Given the description of an element on the screen output the (x, y) to click on. 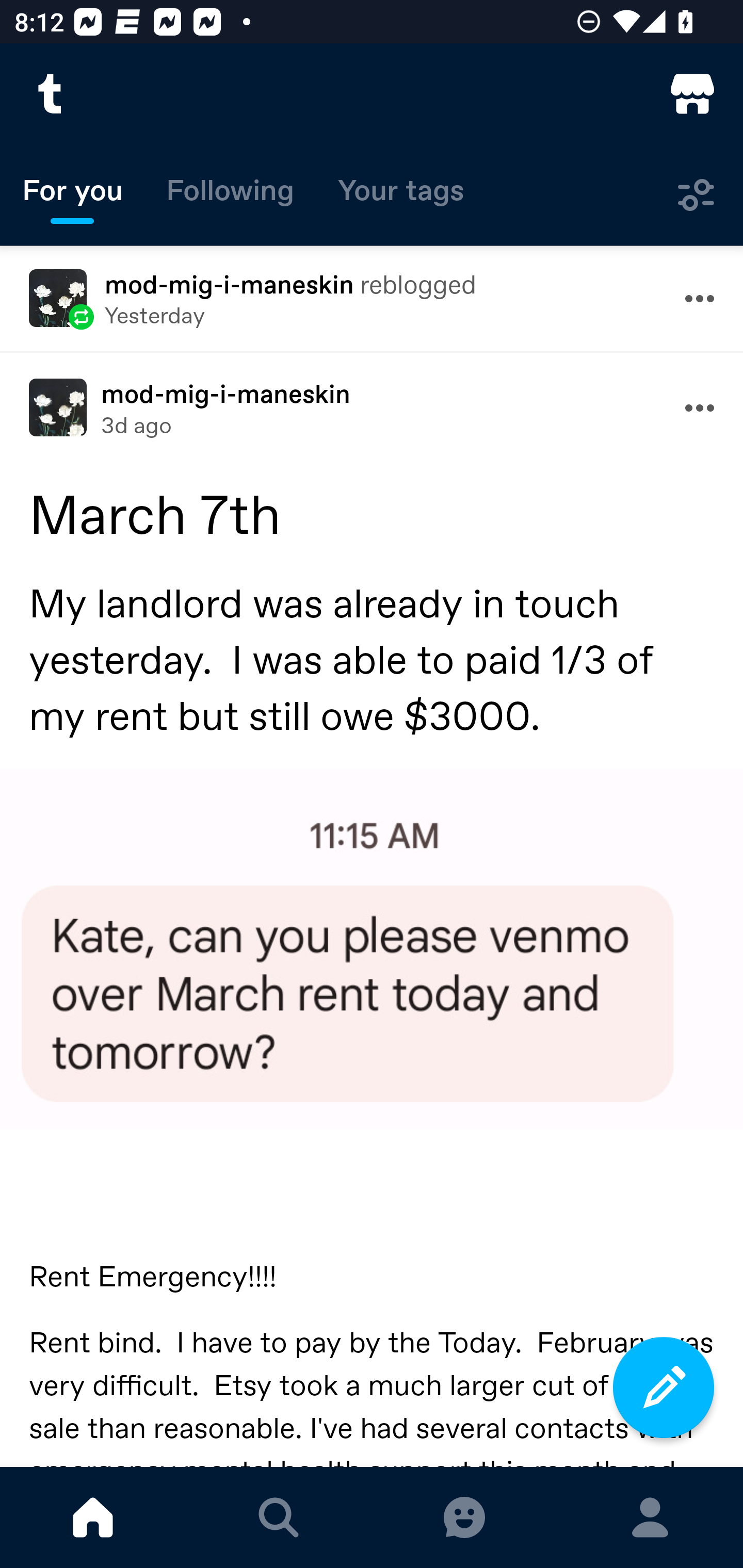
Tumblr (50, 93)
TumblrMart (692, 94)
Following (230, 195)
Your tags (400, 195)
Compose a new post (663, 1387)
DASHBOARD (92, 1517)
EXPLORE (278, 1517)
MESSAGES (464, 1517)
ACCOUNT (650, 1517)
